Given the description of an element on the screen output the (x, y) to click on. 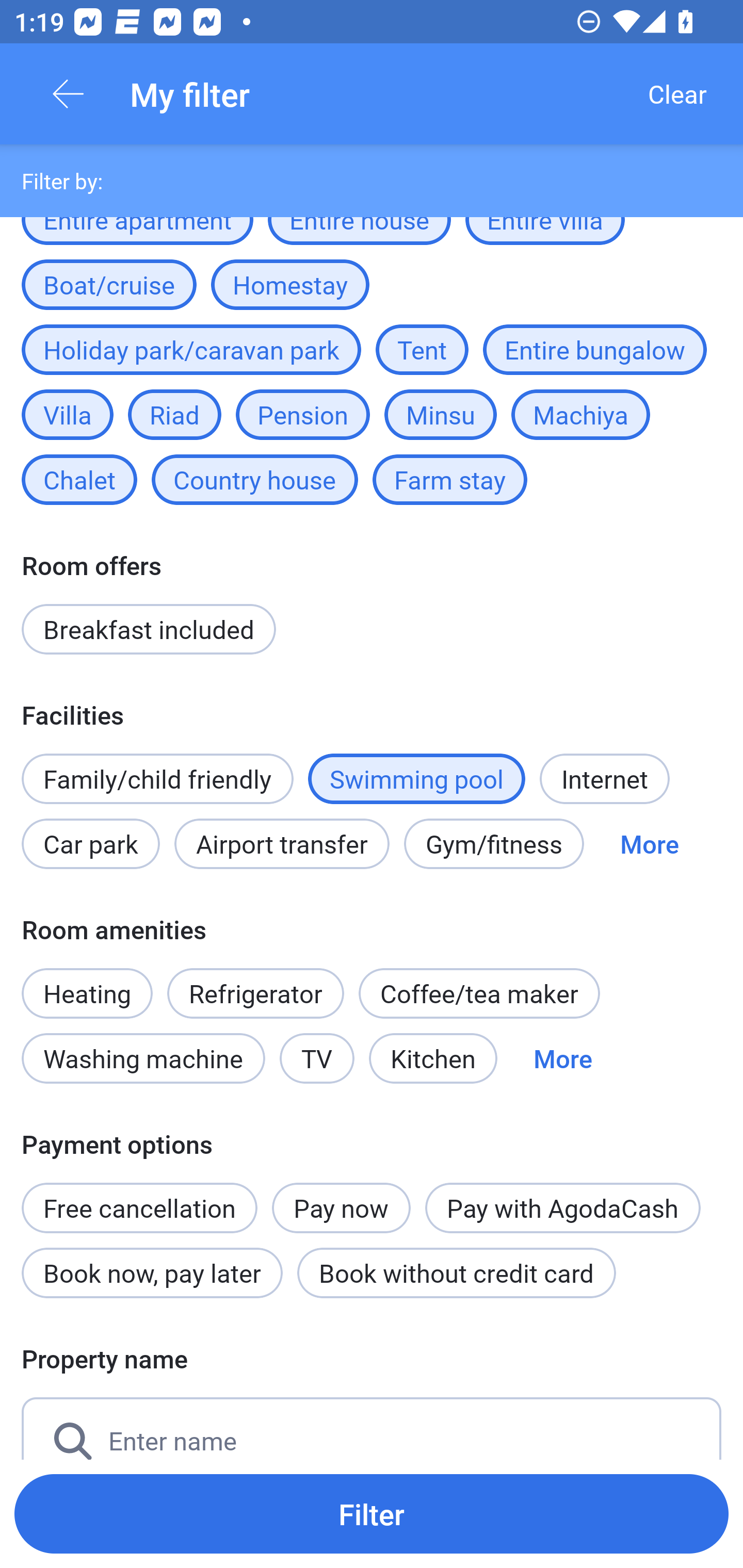
Clear (676, 93)
Breakfast included (148, 629)
Family/child friendly (157, 778)
Internet (604, 778)
Car park (90, 844)
Airport transfer (281, 844)
Gym/fitness (493, 844)
More (649, 844)
Heating (87, 982)
Refrigerator (255, 993)
Coffee/tea maker (479, 993)
Washing machine (143, 1058)
TV (317, 1058)
Kitchen (433, 1058)
More (562, 1058)
Free cancellation (139, 1197)
Pay now (340, 1208)
Pay with AgodaCash (562, 1208)
Book now, pay later (152, 1272)
Book without credit card (456, 1272)
Enter name (371, 1428)
Filter (371, 1513)
